Given the description of an element on the screen output the (x, y) to click on. 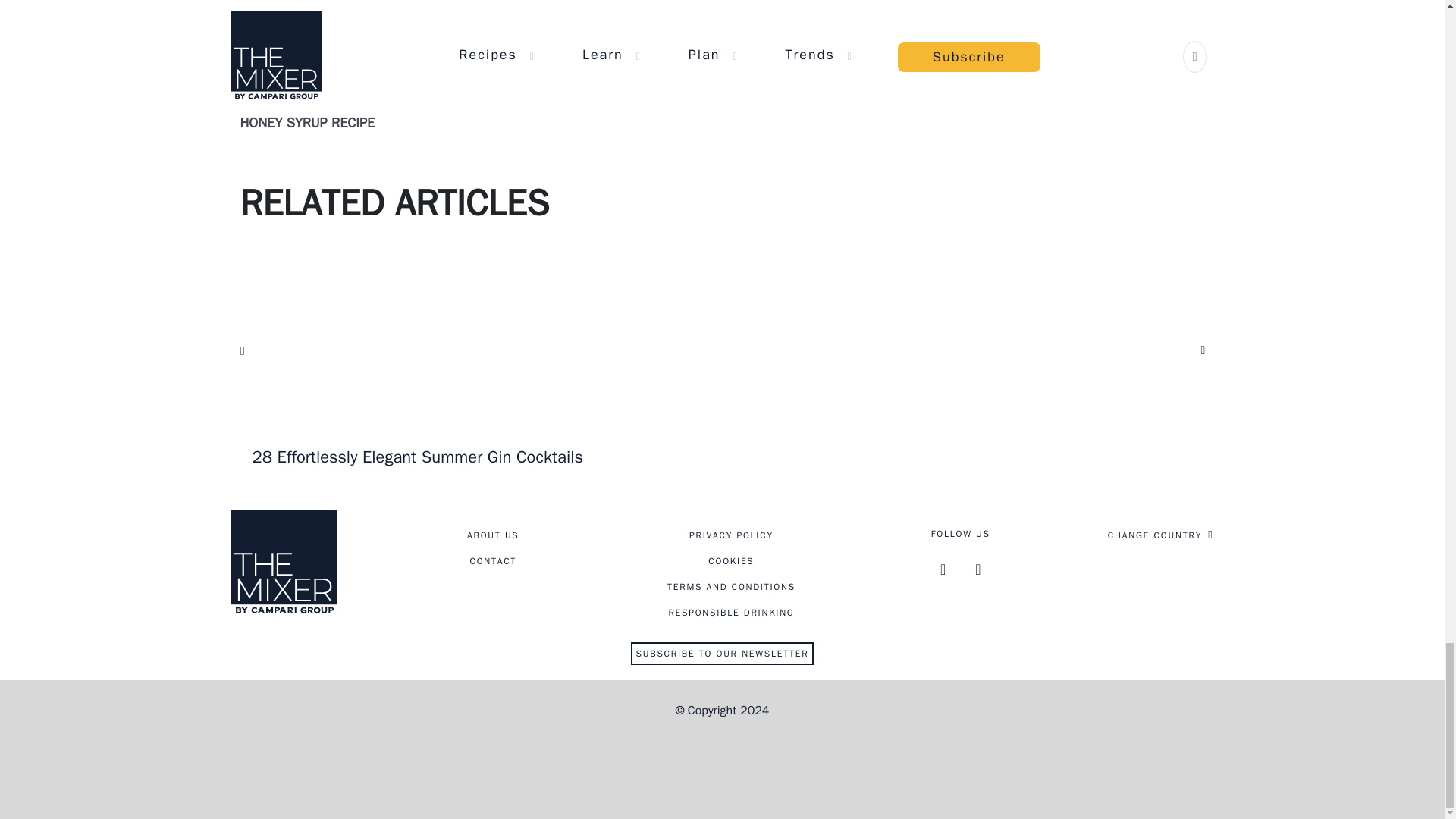
Campari Group - Link opens on a new tab (721, 758)
